Given the description of an element on the screen output the (x, y) to click on. 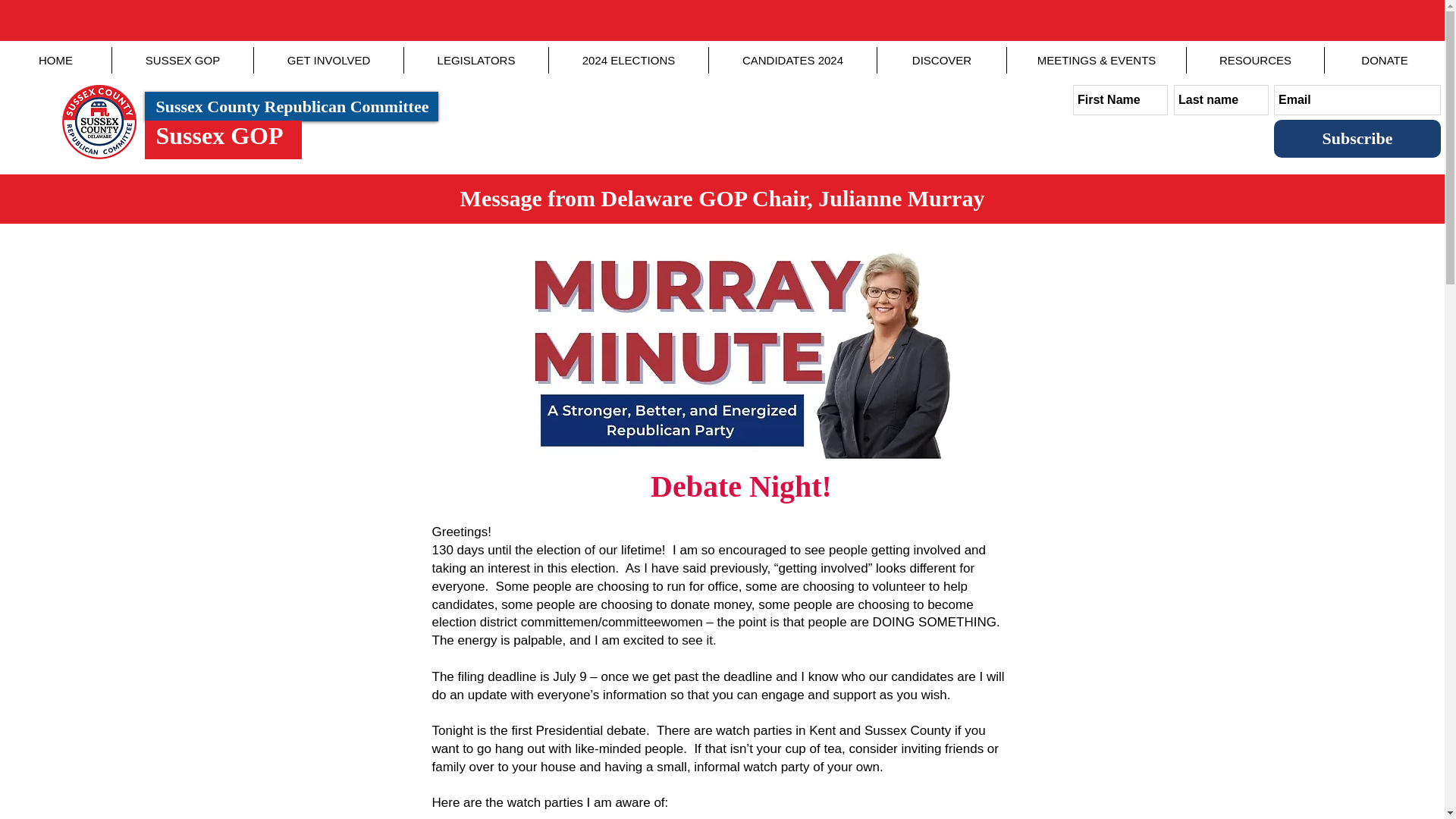
GET INVOLVED (328, 59)
DISCOVER (941, 59)
HOME (56, 59)
CANDIDATES 2024 (792, 59)
2024 ELECTIONS (627, 59)
RESOURCES (1254, 59)
Murray Minute logo.jpg (741, 349)
LEGISLATORS (476, 59)
SUSSEX GOP (182, 59)
Subscribe (1357, 138)
